Given the description of an element on the screen output the (x, y) to click on. 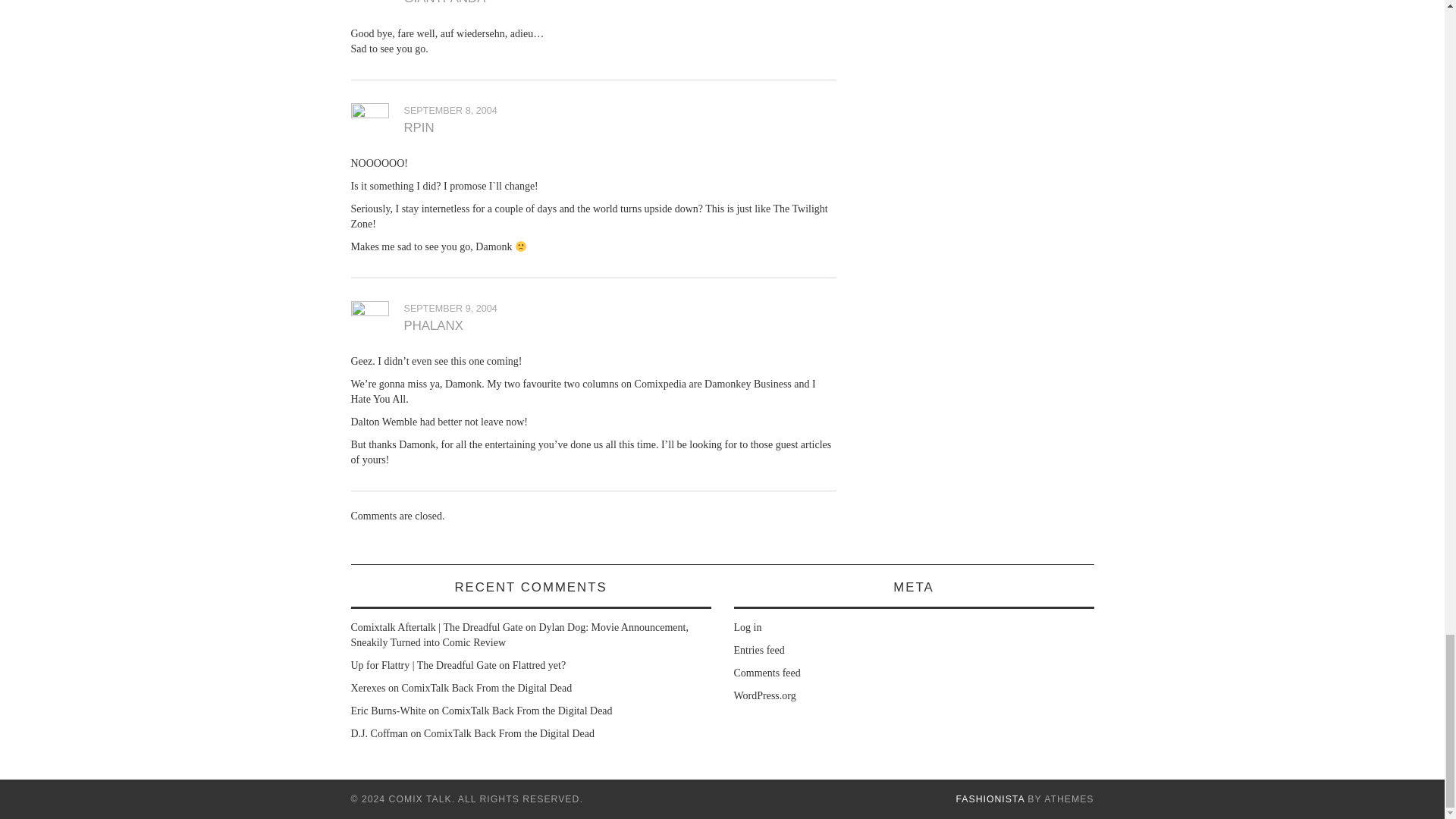
SEPTEMBER 8, 2004 (449, 110)
SEPTEMBER 9, 2004 (449, 308)
